Given the description of an element on the screen output the (x, y) to click on. 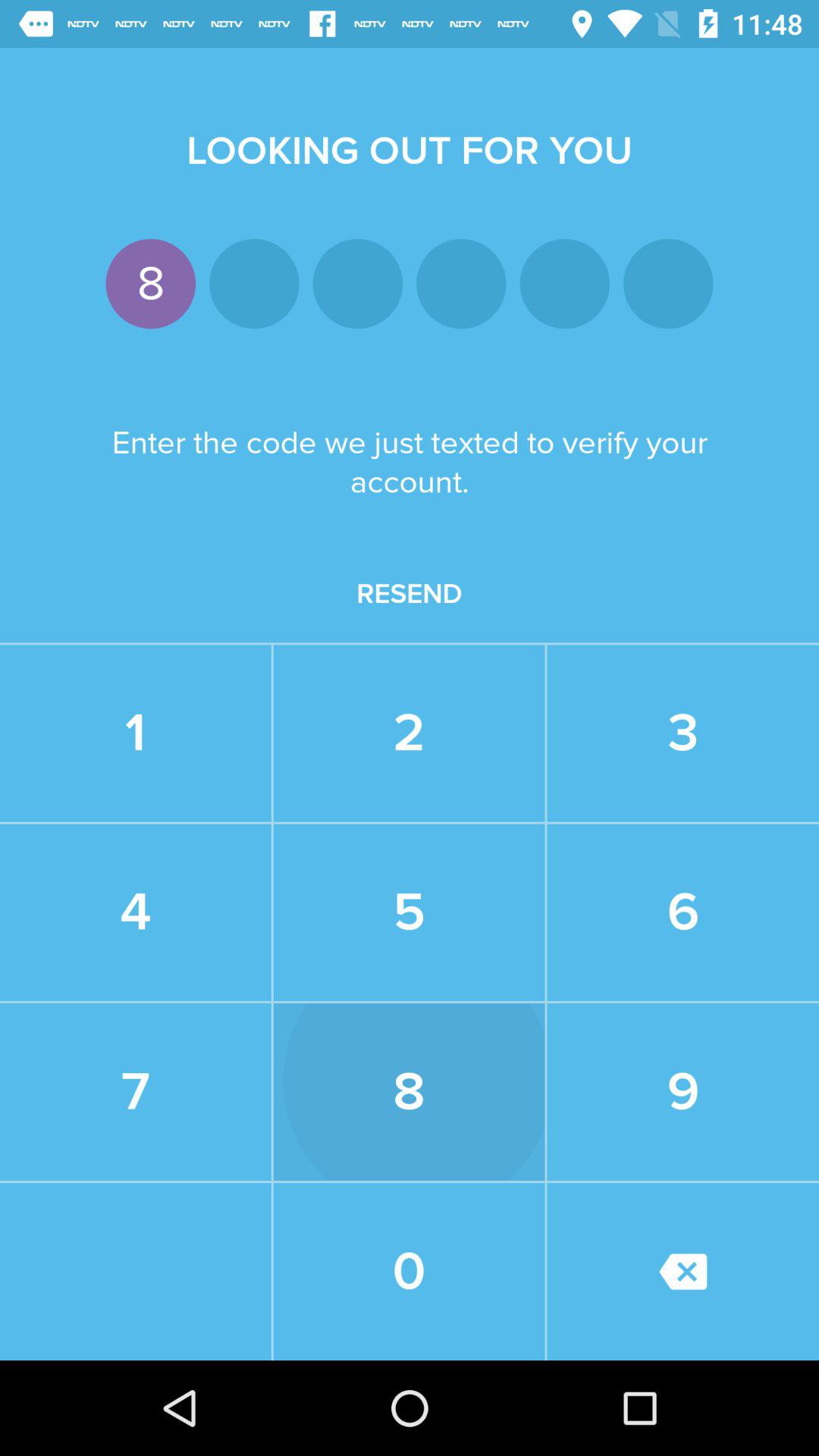
jump to 4 icon (135, 912)
